Given the description of an element on the screen output the (x, y) to click on. 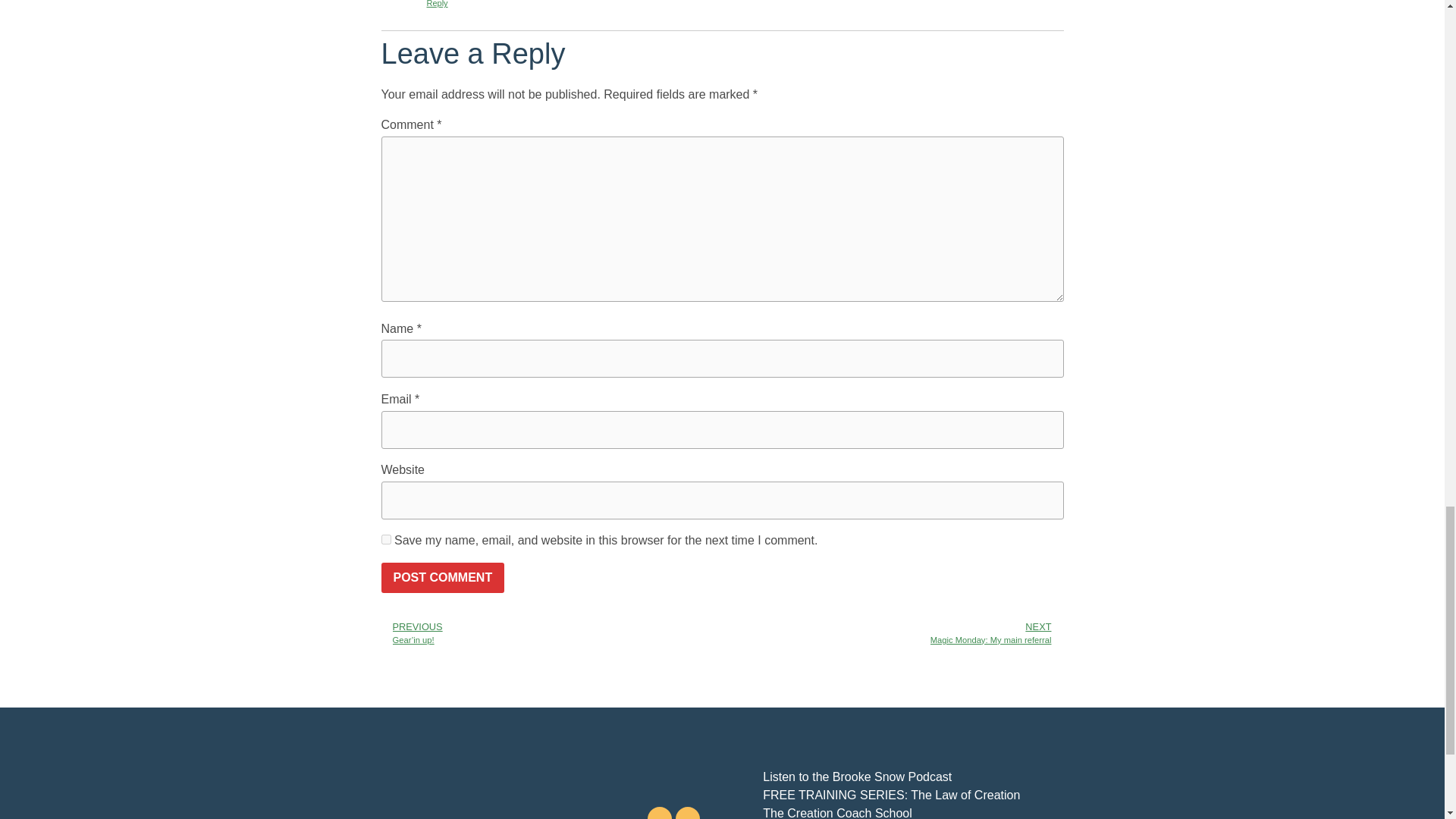
Reply (436, 3)
yes (385, 539)
Post Comment (441, 577)
Post Comment (441, 577)
